Given the description of an element on the screen output the (x, y) to click on. 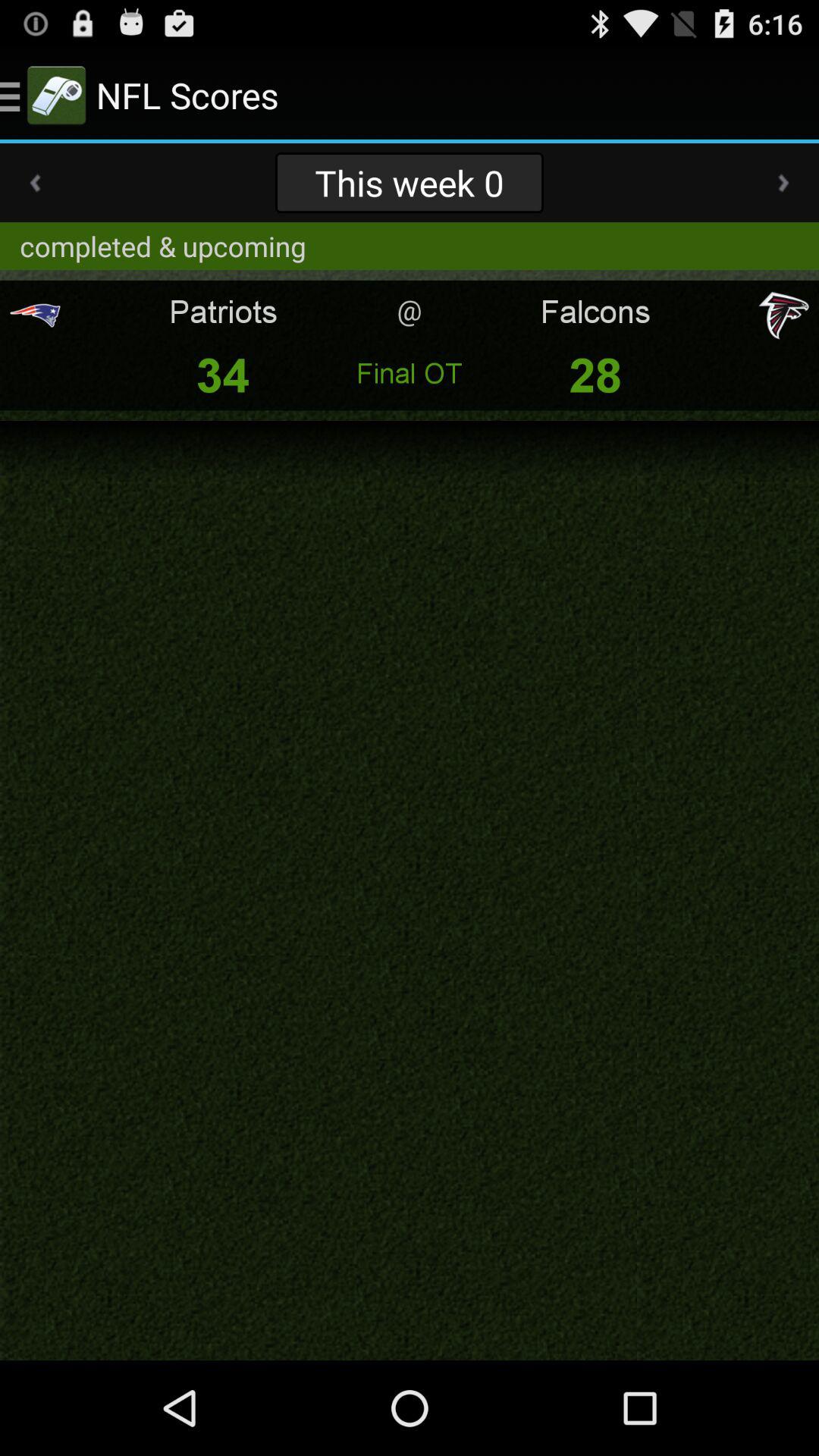
go back (35, 182)
